Given the description of an element on the screen output the (x, y) to click on. 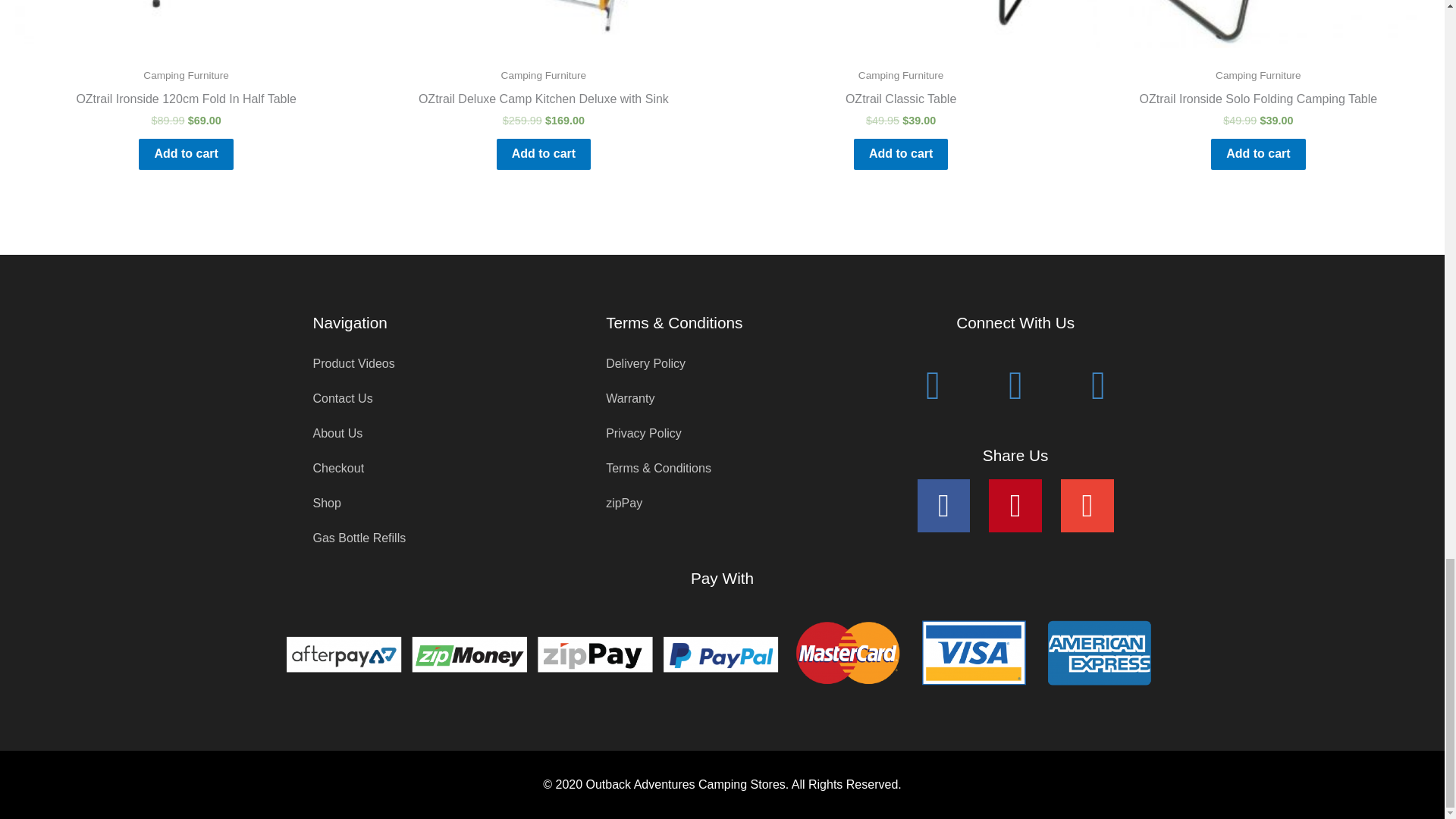
OZtrail Ironside Solo Folding Camping Table (1258, 102)
OZtrail Ironside 120cm Fold In Half Table (185, 102)
Product Videos (428, 363)
OZtrail Deluxe Camp Kitchen Deluxe with Sink (543, 102)
Contact Us (428, 398)
Add to cart (543, 153)
Add to cart (900, 153)
OZtrail Classic Table (900, 102)
Add to cart (1257, 153)
Add to cart (185, 153)
